Given the description of an element on the screen output the (x, y) to click on. 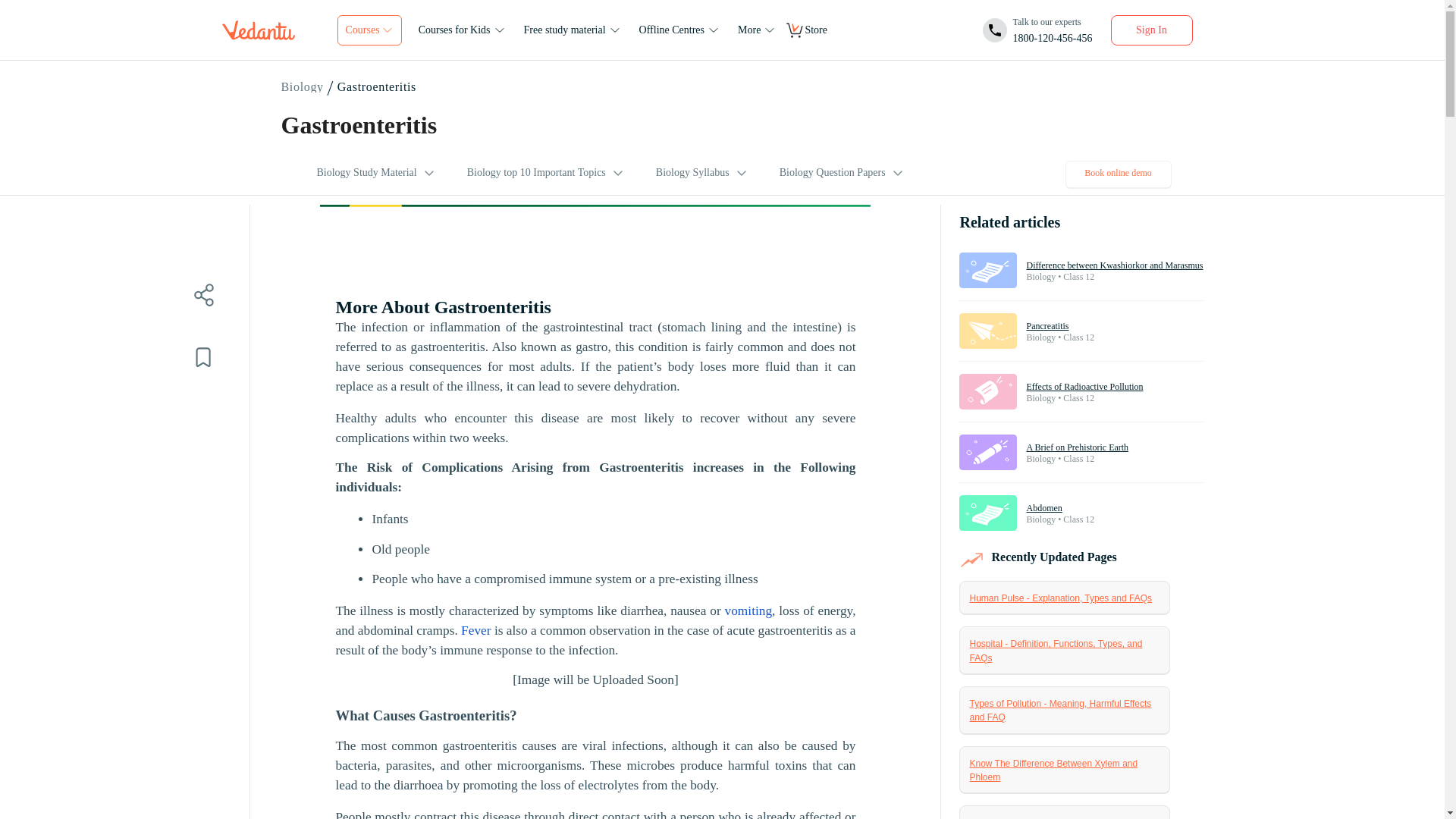
Sign In (1037, 30)
Biology (1150, 30)
Offline Centres (303, 86)
